Given the description of an element on the screen output the (x, y) to click on. 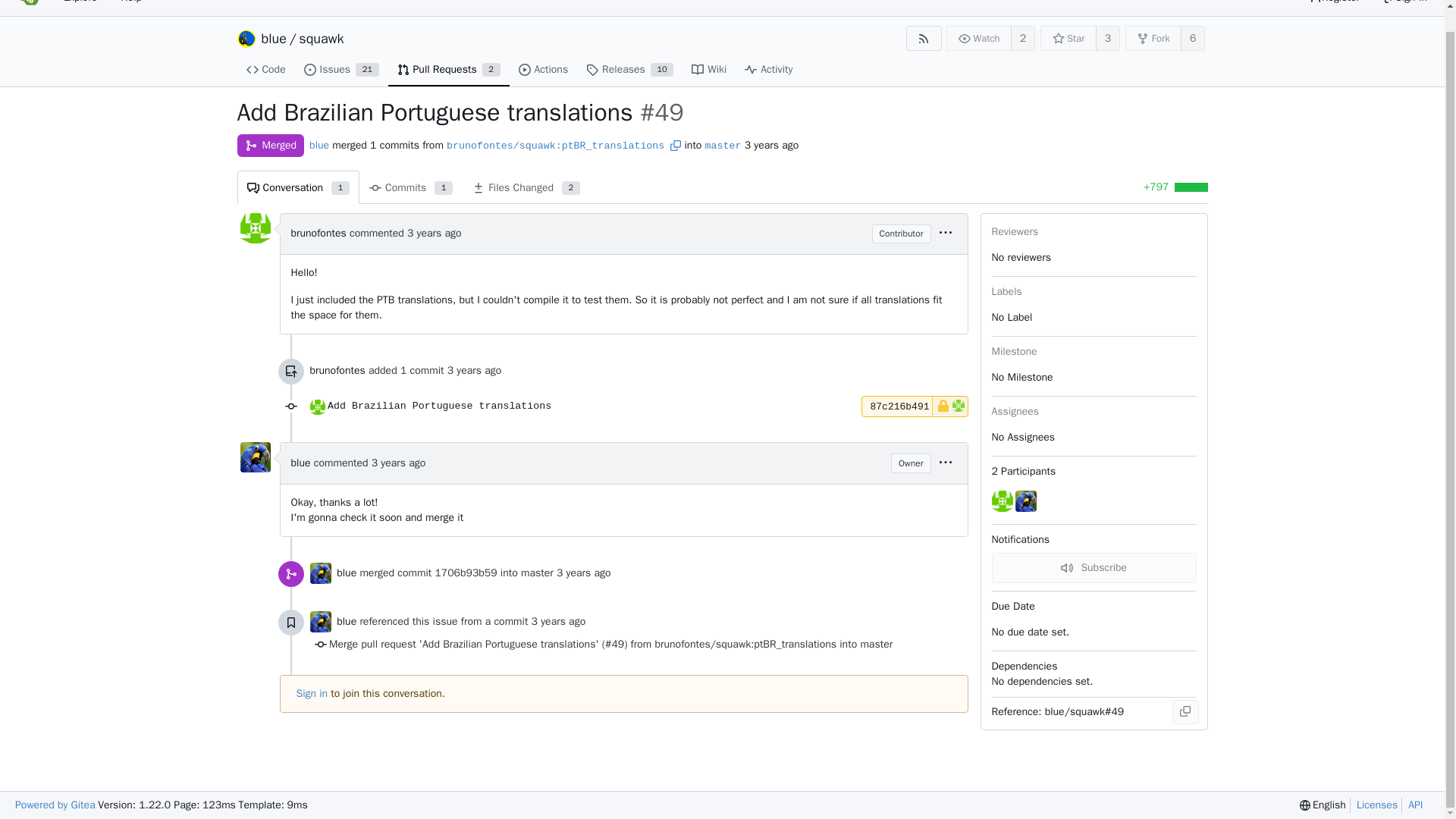
blue (318, 144)
3 (1107, 37)
brunofontes (336, 369)
Add Brazilian Portuguese translations (591, 406)
6 (1192, 37)
Explore (79, 5)
Blue (319, 572)
Bruno F. Fontes (448, 70)
Code (316, 406)
Sign In (264, 70)
87c216b491 (1405, 5)
squawk (629, 70)
Bruno F. Fontes (914, 405)
